Given the description of an element on the screen output the (x, y) to click on. 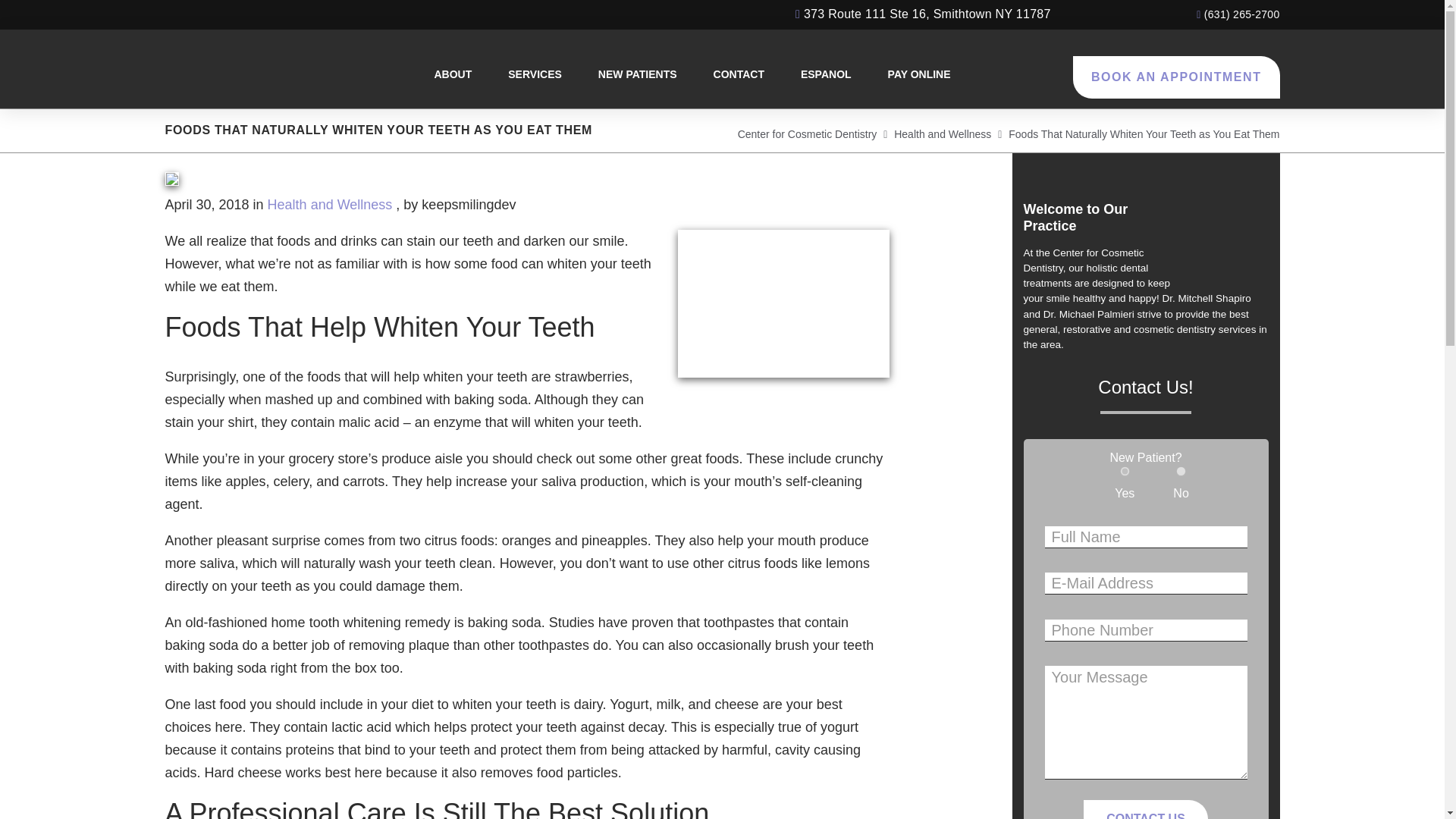
NEW PATIENTS (552, 74)
ESPANOL (746, 74)
SERVICES (437, 74)
ABOUT (345, 74)
CONTACT (659, 74)
373 Route 111 Ste 16, Smithtown NY 11787 (922, 14)
Contact Us (1145, 796)
Dental friendly foods that help whiten your teeth.  (783, 303)
PAY ONLINE (840, 74)
